Given the description of an element on the screen output the (x, y) to click on. 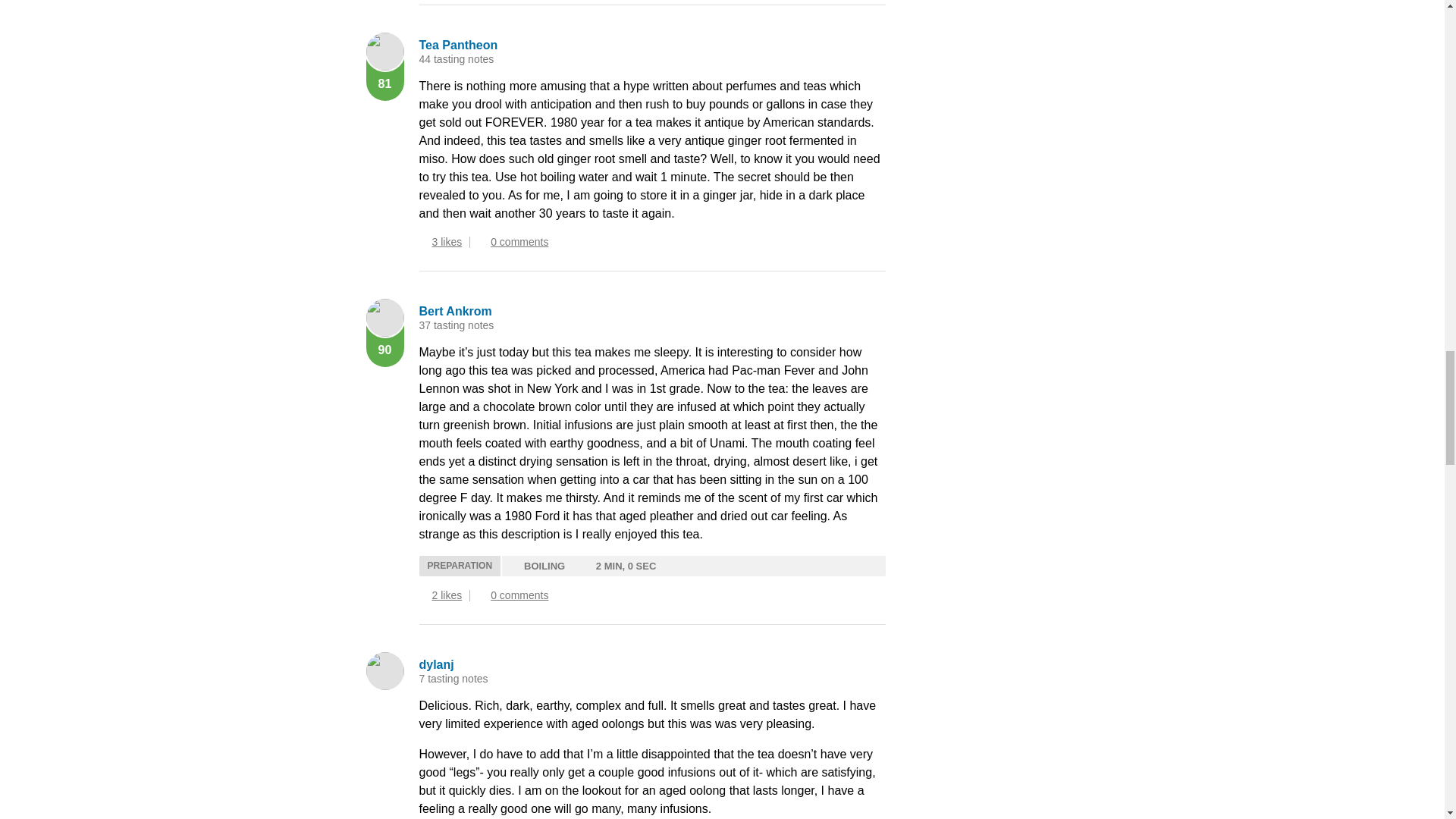
Like This (423, 595)
Like This (423, 242)
